Given the description of an element on the screen output the (x, y) to click on. 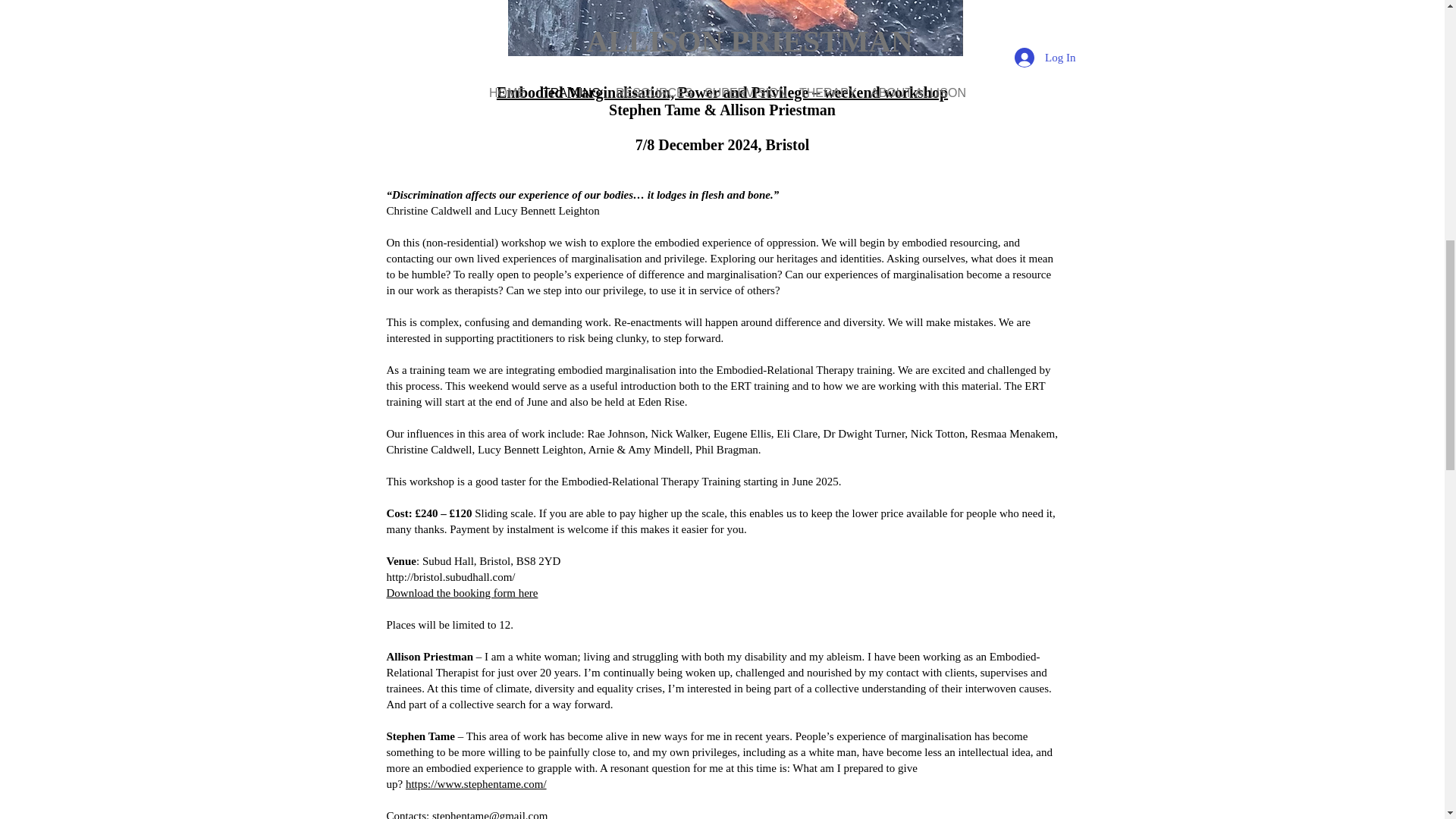
Download the booking form here (462, 592)
